Given the description of an element on the screen output the (x, y) to click on. 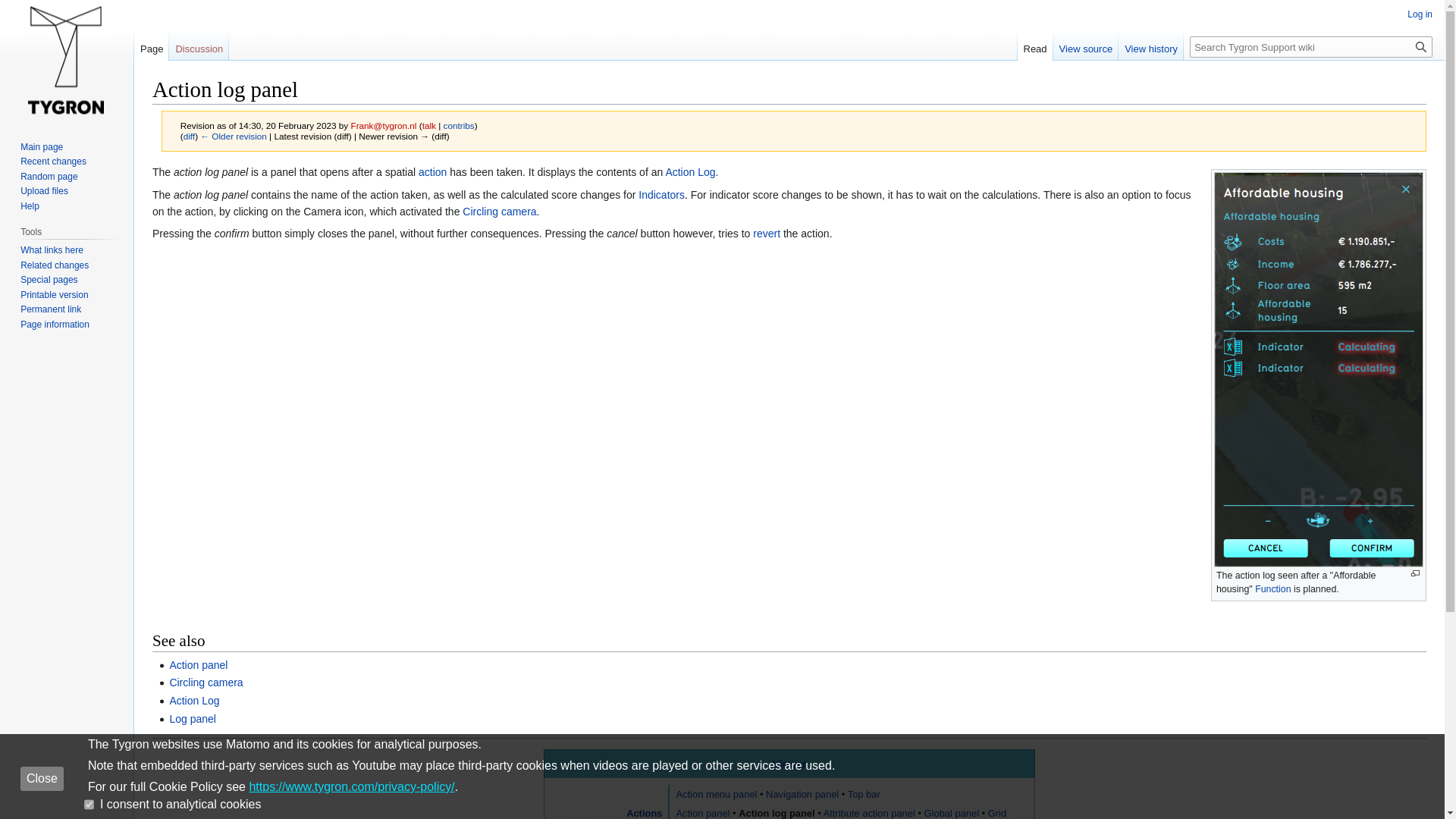
Function (1272, 588)
Circling camera (499, 211)
contribs (459, 125)
Function (1272, 588)
action (432, 172)
Grid option panel (840, 813)
Indicators (661, 194)
Action Log (193, 700)
Indicator (661, 194)
Go (1420, 46)
talk (428, 125)
Top bar (863, 794)
Action Log (193, 700)
revert (766, 233)
Circling camera (499, 211)
